Given the description of an element on the screen output the (x, y) to click on. 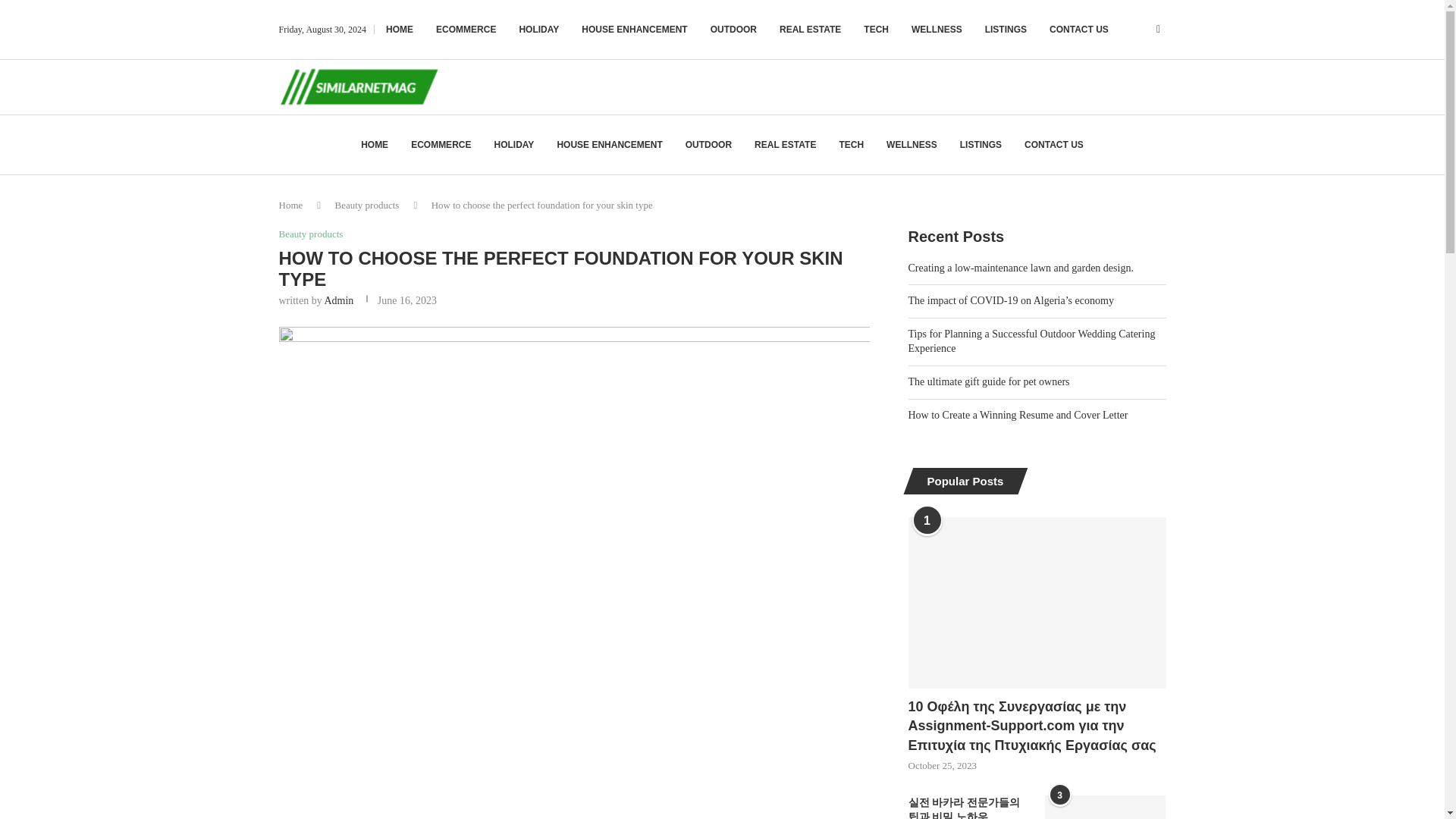
CONTACT US (1078, 29)
HOLIDAY (513, 144)
HOUSE ENHANCEMENT (609, 144)
WELLNESS (911, 144)
REAL ESTATE (809, 29)
Search (1117, 58)
OUTDOOR (708, 144)
ECOMMERCE (465, 29)
Common mistakes to avoid when selling your home (1105, 807)
